Given the description of an element on the screen output the (x, y) to click on. 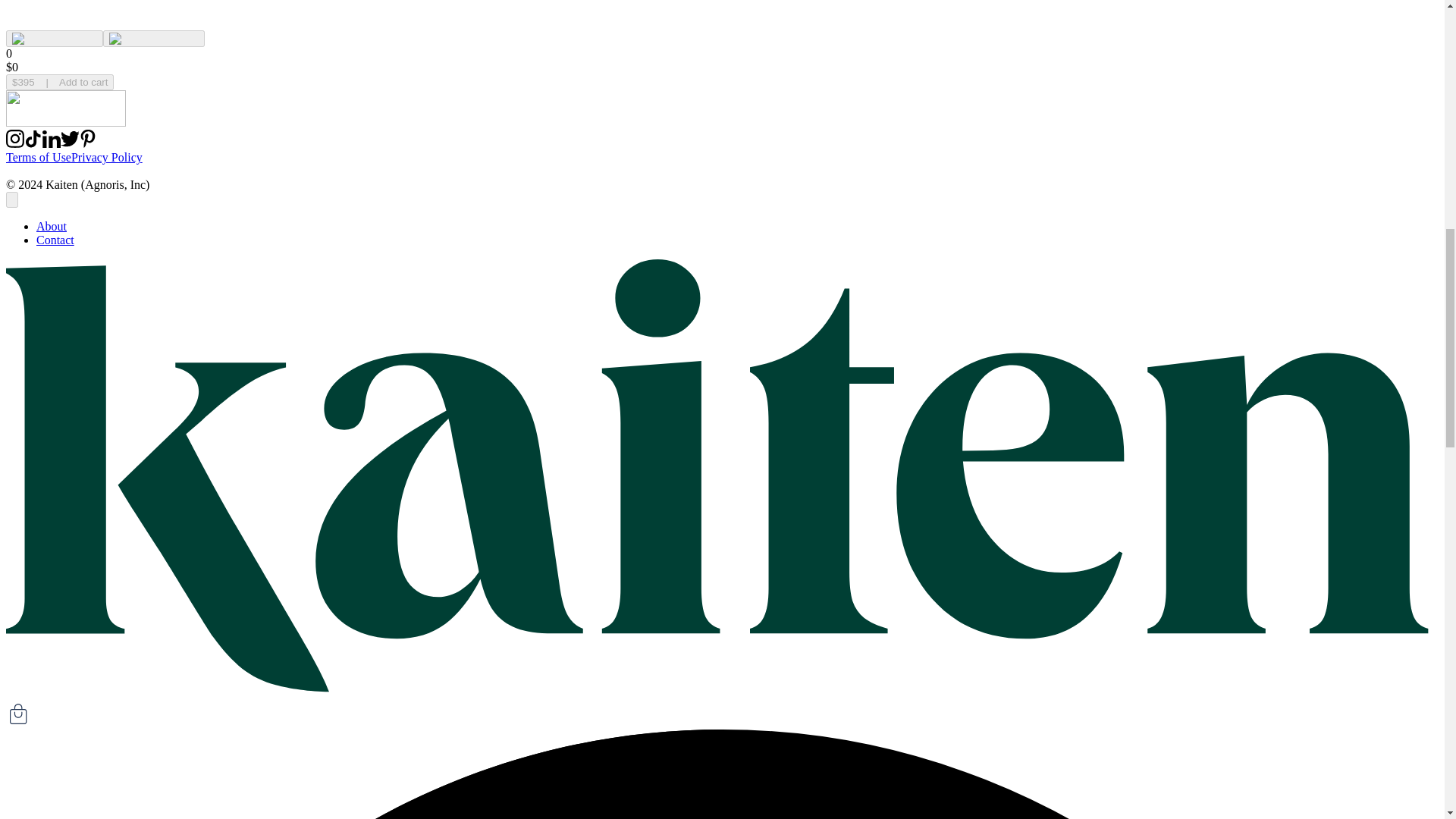
Privacy Policy (106, 156)
About (51, 226)
Terms of Use (38, 156)
Contact (55, 239)
